Given the description of an element on the screen output the (x, y) to click on. 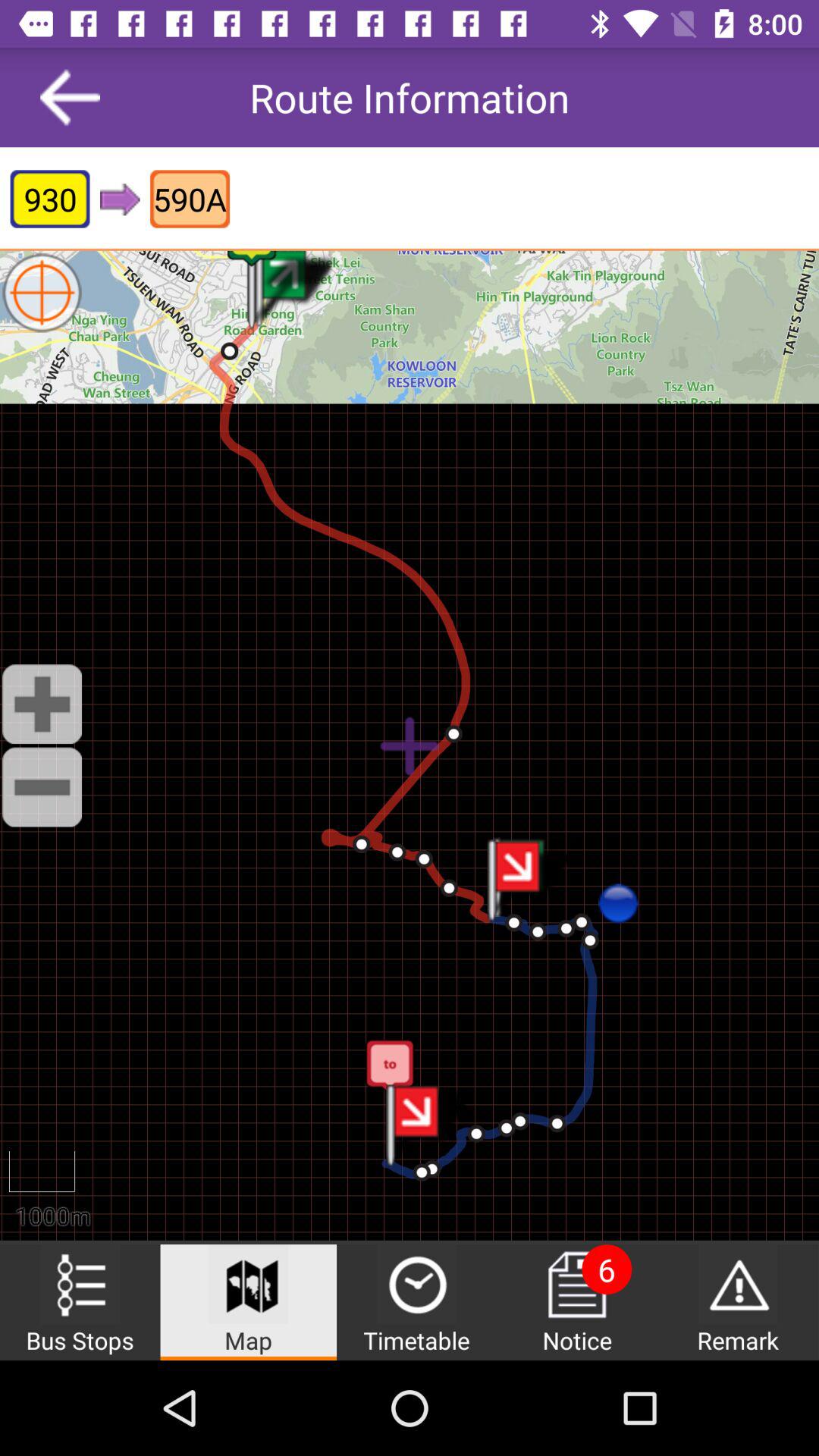
turn off icon next to the route information (69, 97)
